Given the description of an element on the screen output the (x, y) to click on. 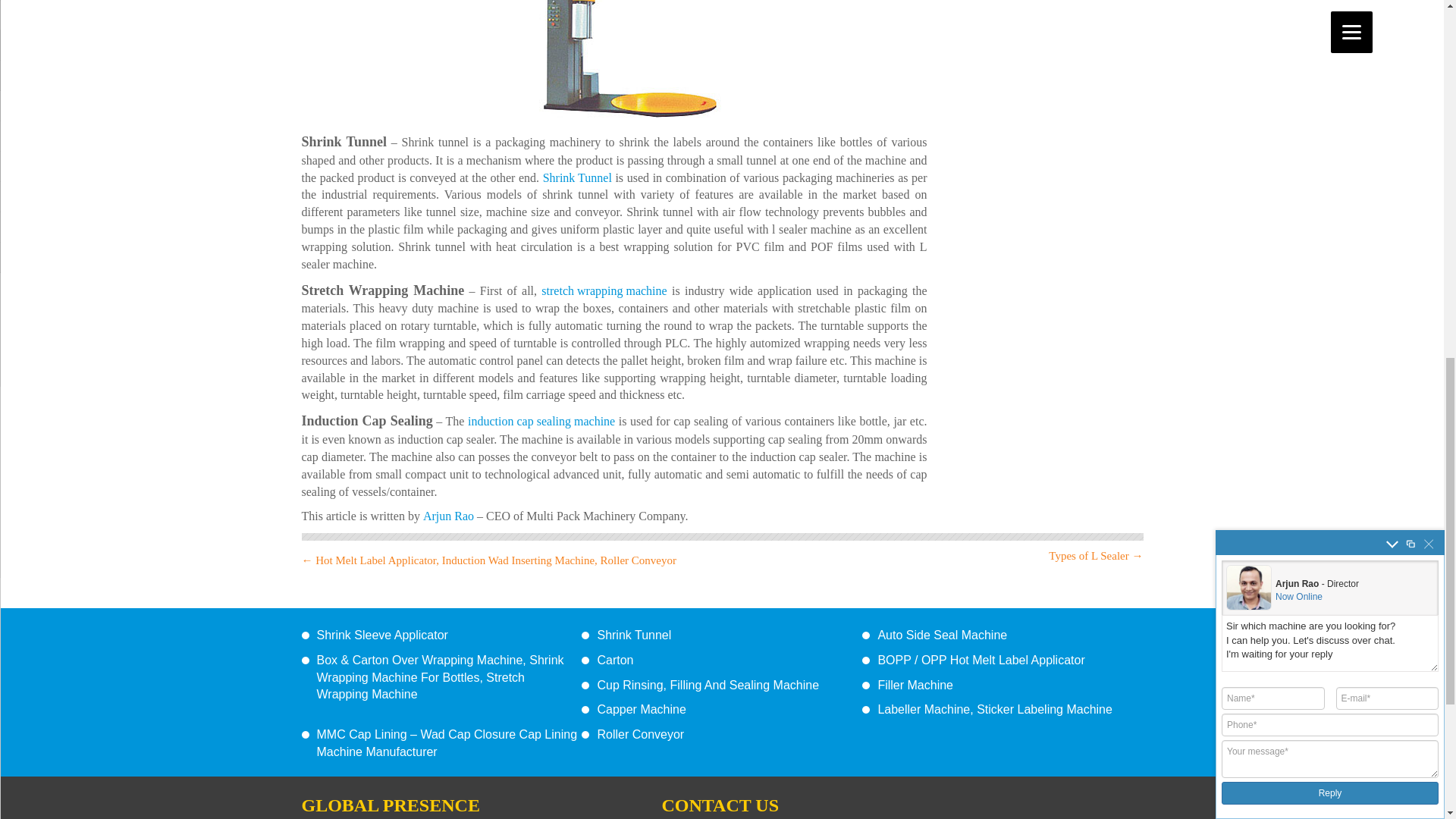
Shrink Tunnel (577, 178)
Arjun Rao (448, 516)
stretch wrapping machine (603, 291)
induction cap sealing machine (540, 421)
